Given the description of an element on the screen output the (x, y) to click on. 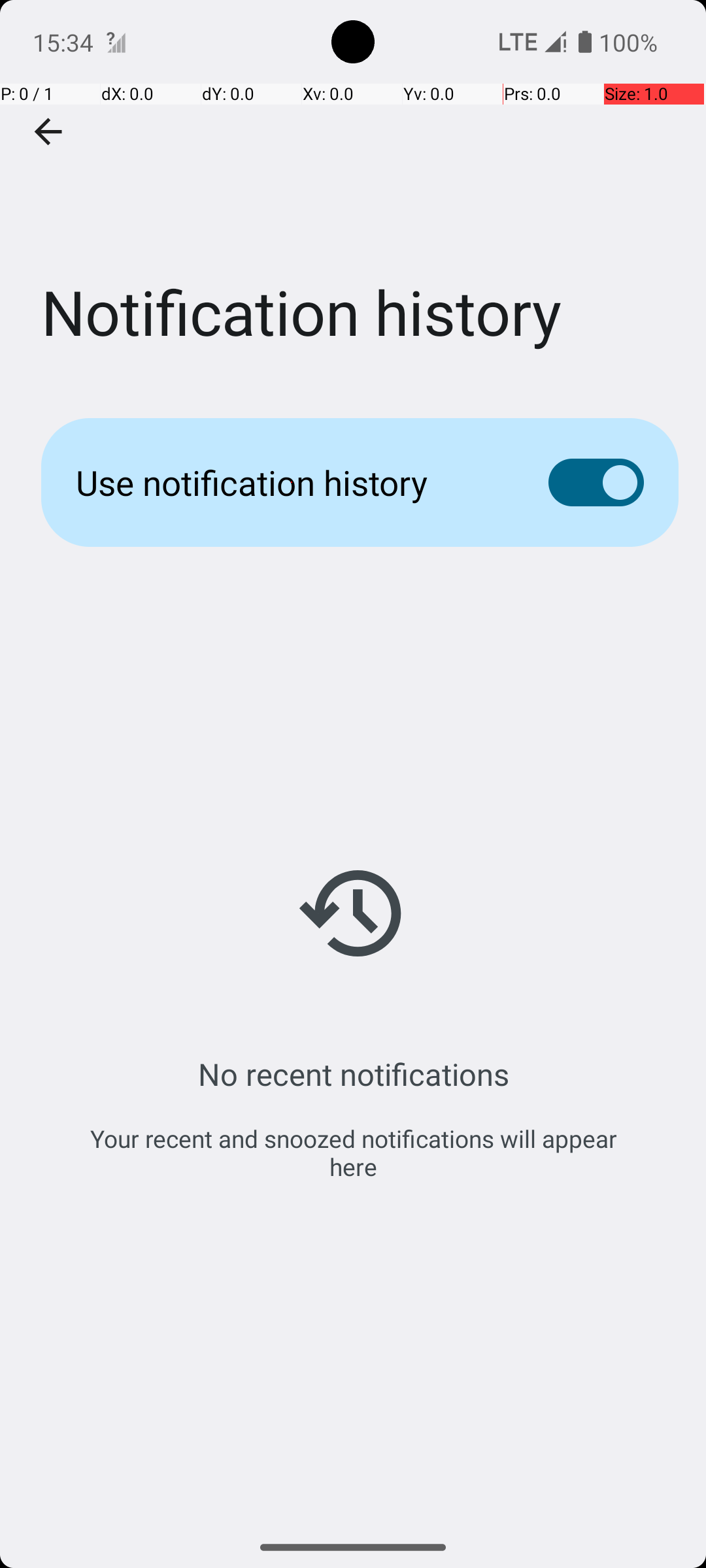
No recent notifications Element type: android.widget.TextView (352, 1073)
Your recent and snoozed notifications will appear here Element type: android.widget.TextView (352, 1152)
Use notification history Element type: android.widget.TextView (291, 482)
